Given the description of an element on the screen output the (x, y) to click on. 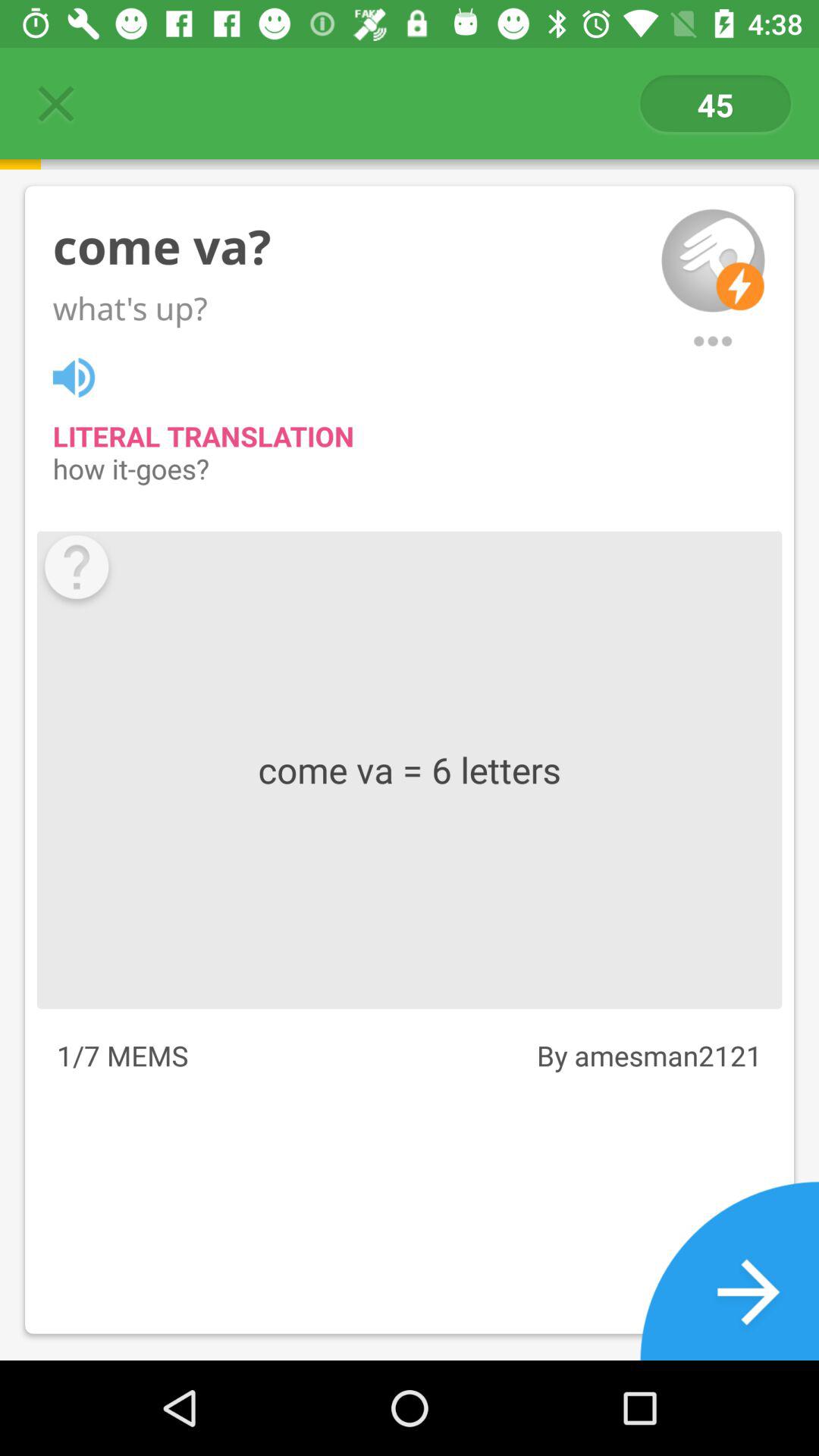
translation button (81, 375)
